Given the description of an element on the screen output the (x, y) to click on. 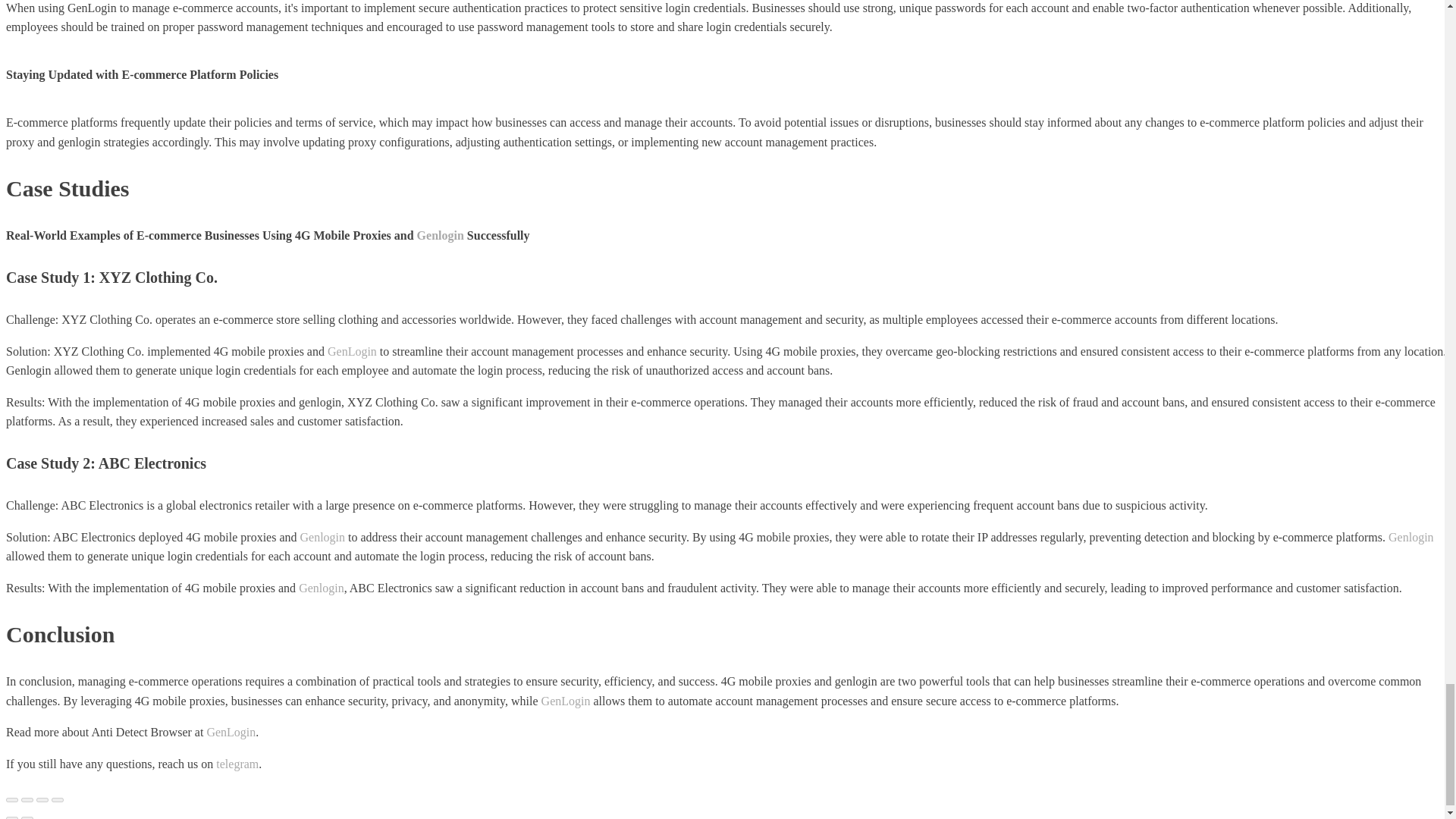
telegram (237, 763)
GenLogin (231, 731)
Genlogin (440, 235)
Genlogin (320, 587)
Genlogin (322, 536)
GenLogin (352, 350)
Genlogin (1411, 536)
GenLogin (566, 700)
